Given the description of an element on the screen output the (x, y) to click on. 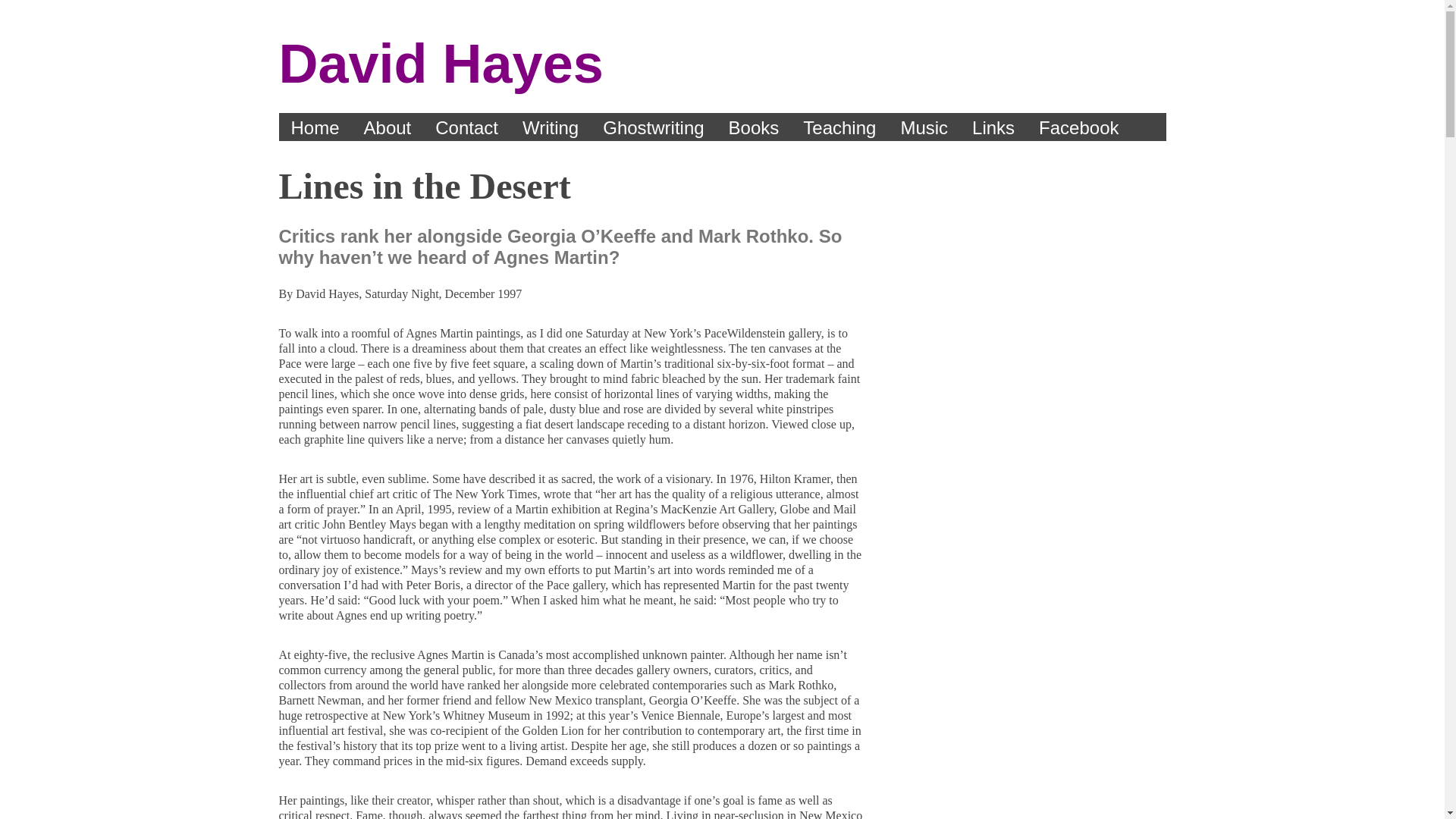
David Hayes (441, 63)
Teaching (839, 127)
About (387, 127)
Facebook (1078, 127)
Ghostwriting (653, 127)
Links (992, 127)
Books (754, 127)
Contact (467, 127)
Home (315, 127)
Home (441, 63)
Music (923, 127)
Writing (551, 127)
